Given the description of an element on the screen output the (x, y) to click on. 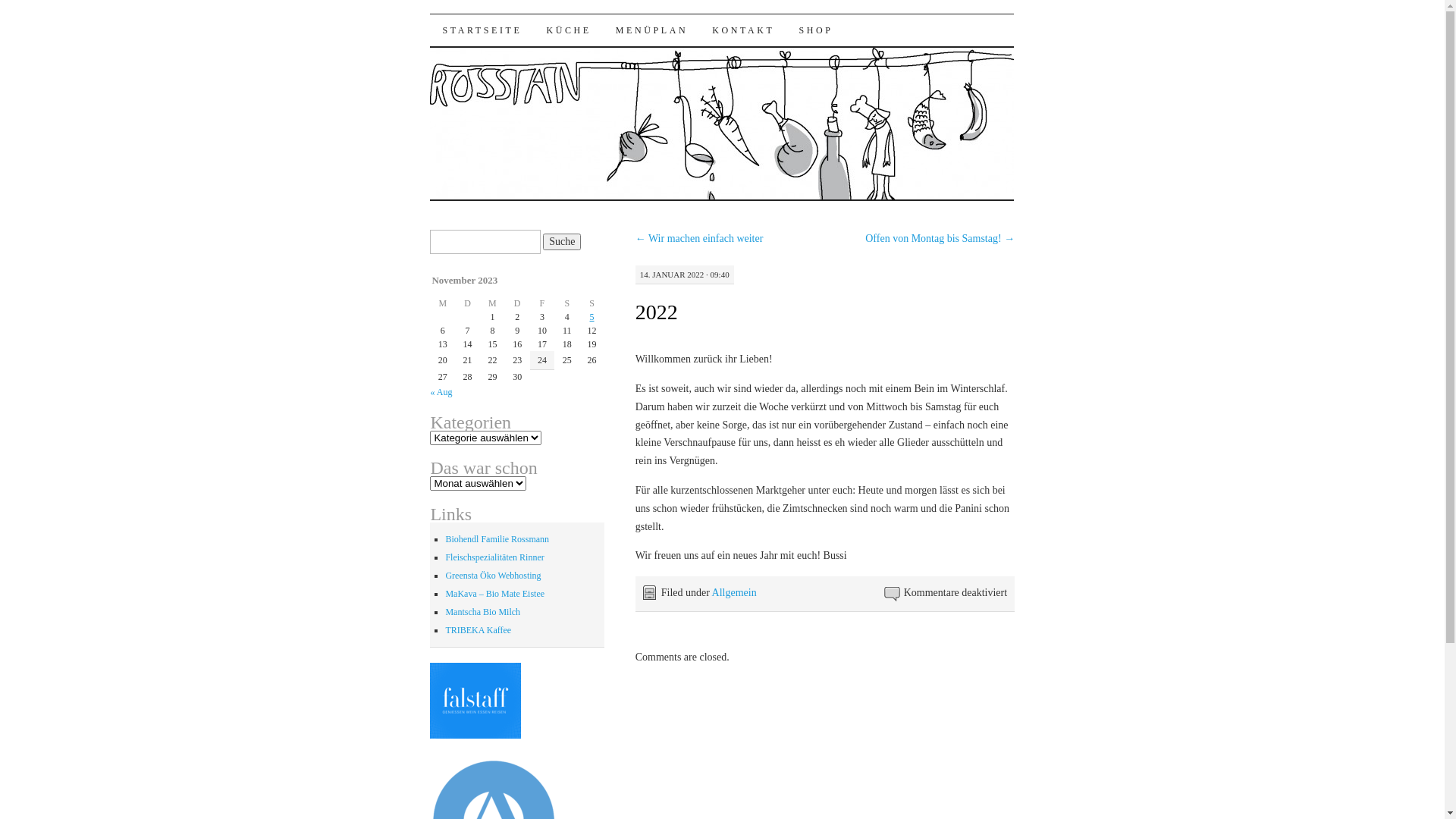
2022 Element type: text (656, 311)
TRIBEKA Kaffee Element type: text (478, 629)
Suche Element type: text (561, 241)
Rossian in  Element type: hover (474, 735)
Mantscha Bio Milch Element type: text (482, 611)
STARTSEITE Element type: text (481, 30)
Rossian Element type: text (479, 26)
Biohendl Familie Rossmann Element type: text (497, 538)
KONTAKT Element type: text (742, 30)
Allgemein Element type: text (734, 592)
SHOP Element type: text (815, 30)
SKIP TO CONTENT Element type: text (511, 30)
5 Element type: text (591, 316)
